Given the description of an element on the screen output the (x, y) to click on. 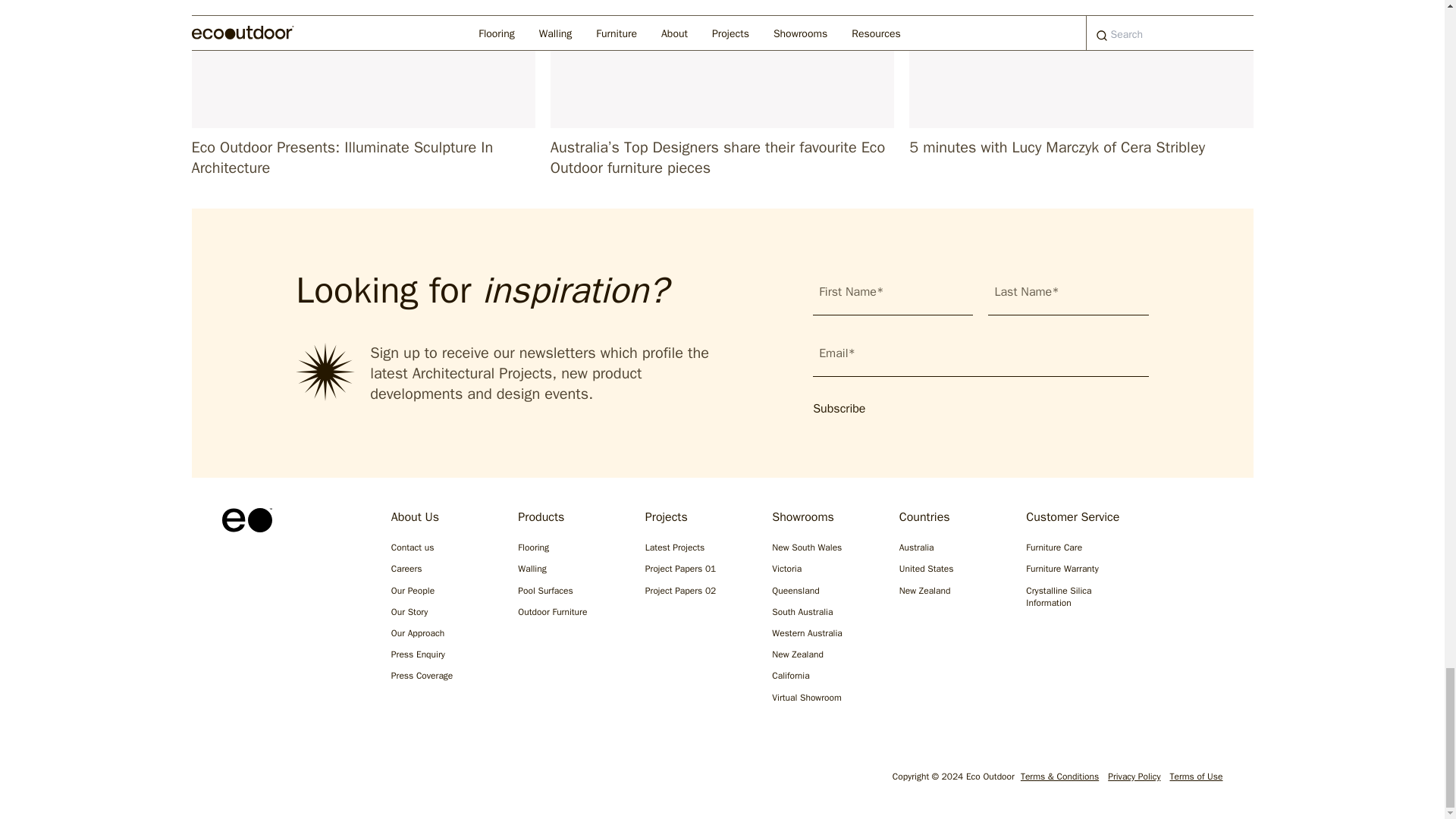
221107 ECO OUTDOOR DAY2 452 (362, 63)
Csa Lucy 01 (1080, 63)
MiniLogo.svg (245, 519)
Designers Outdoor Furniture E1573084658970 (721, 63)
LinkedIn (327, 779)
YouTube (375, 779)
Instagram (230, 779)
Facebook (278, 779)
